Given the description of an element on the screen output the (x, y) to click on. 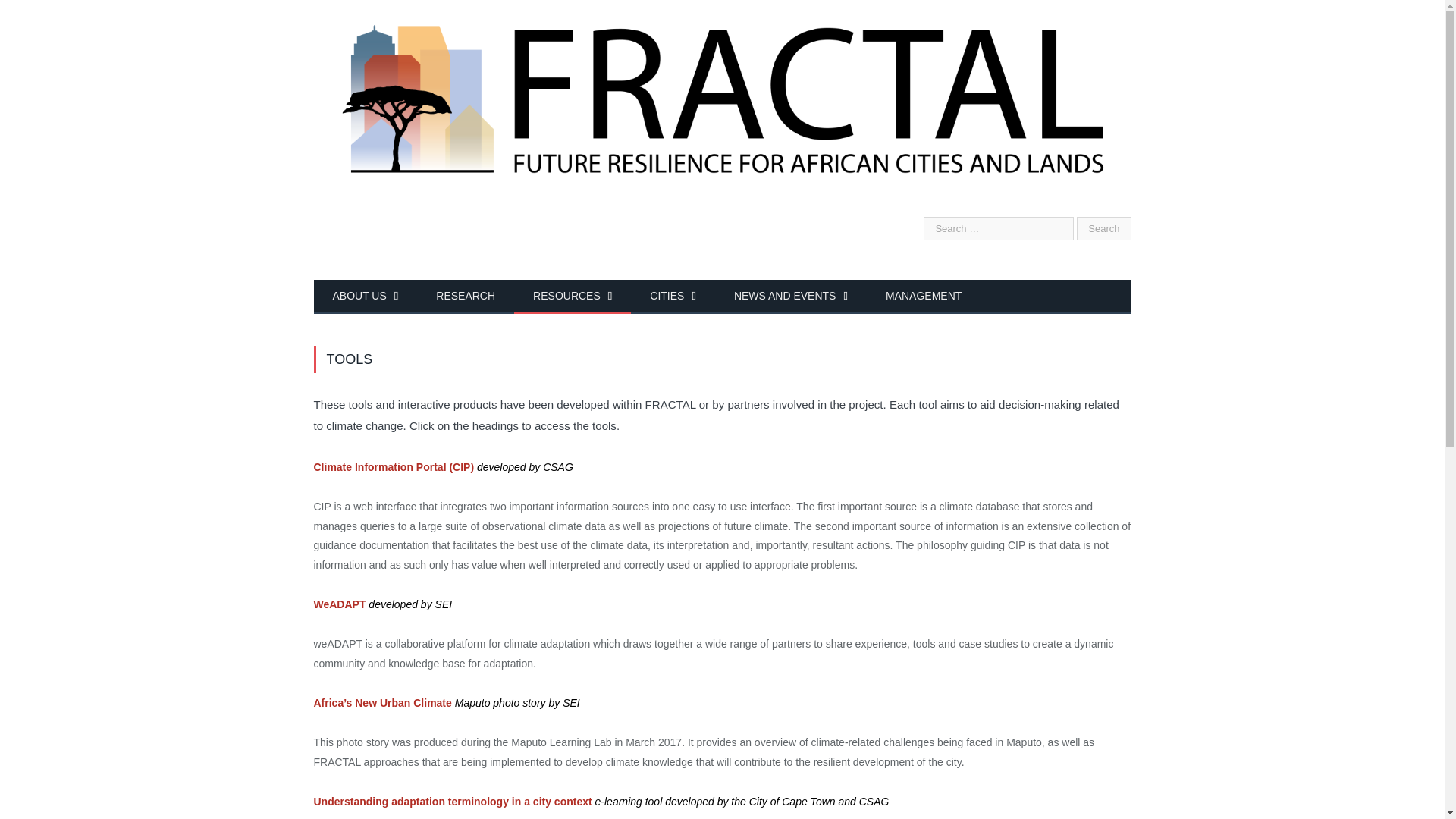
FRACTAL (722, 86)
MANAGEMENT (922, 296)
ABOUT US (365, 296)
Search (1104, 228)
Search (1104, 228)
RESEARCH (464, 296)
RESOURCES (571, 296)
NEWS AND EVENTS (790, 296)
CITIES (672, 296)
Search (1104, 228)
